Given the description of an element on the screen output the (x, y) to click on. 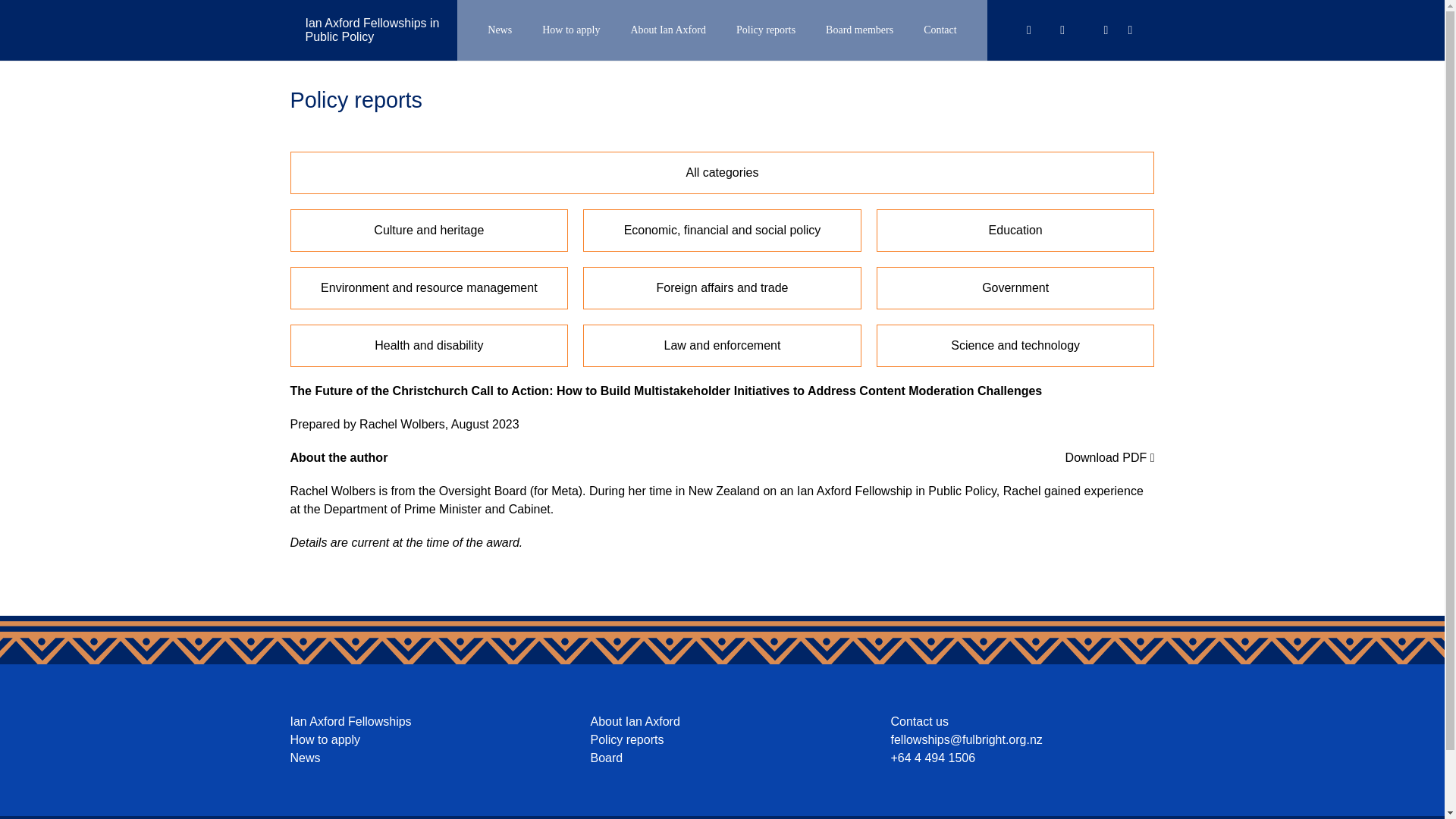
About Ian Axford (667, 30)
Policy reports (626, 739)
Board (606, 757)
Ian Axford Fellowships (349, 721)
Law and enforcement (722, 345)
Facebook (1105, 30)
Ian Axford Fellowships in Public Policy (371, 29)
Foreign affairs and trade (722, 287)
Education (1015, 230)
News (499, 30)
